Given the description of an element on the screen output the (x, y) to click on. 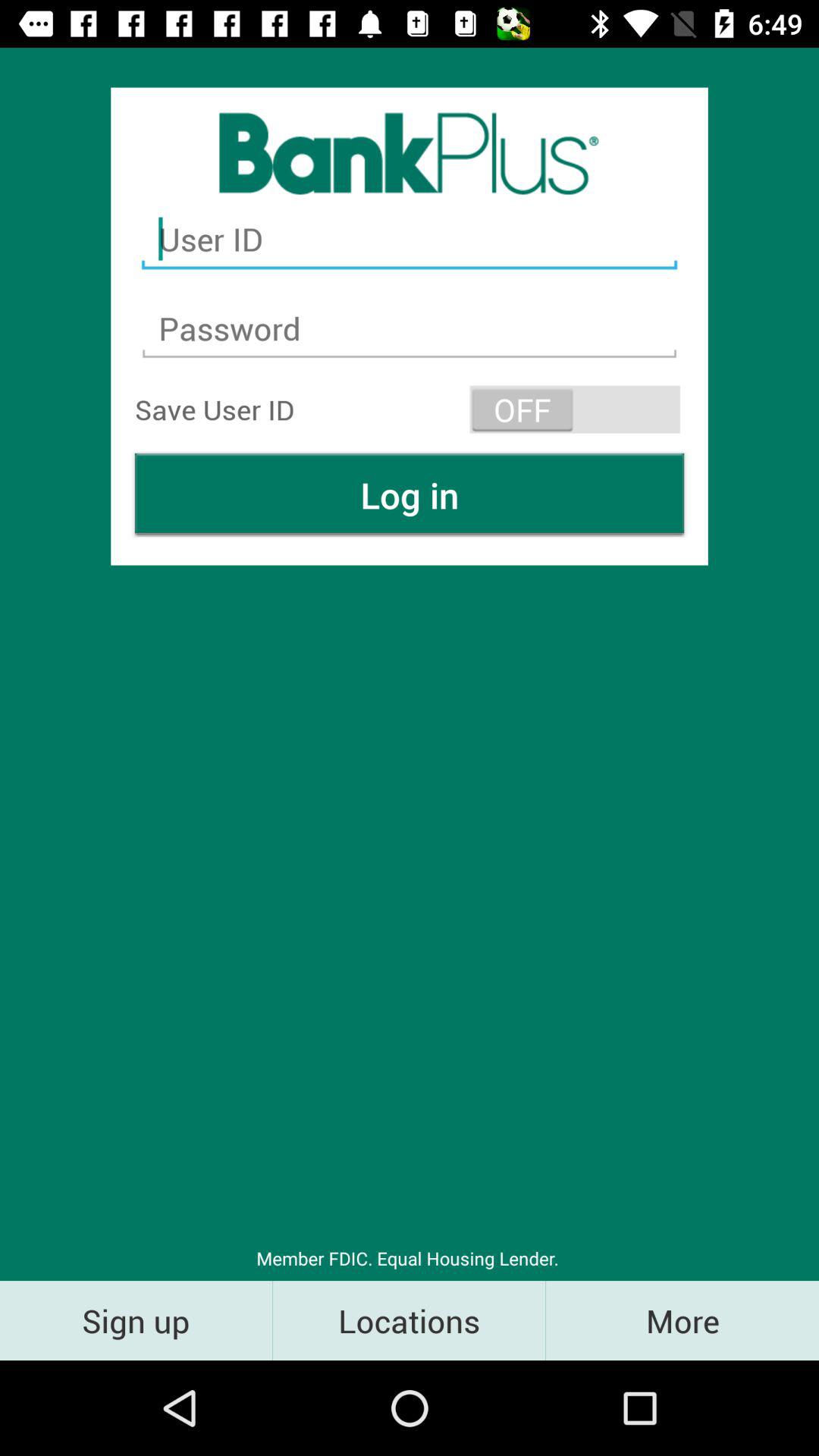
scroll until the locations icon (409, 1320)
